Given the description of an element on the screen output the (x, y) to click on. 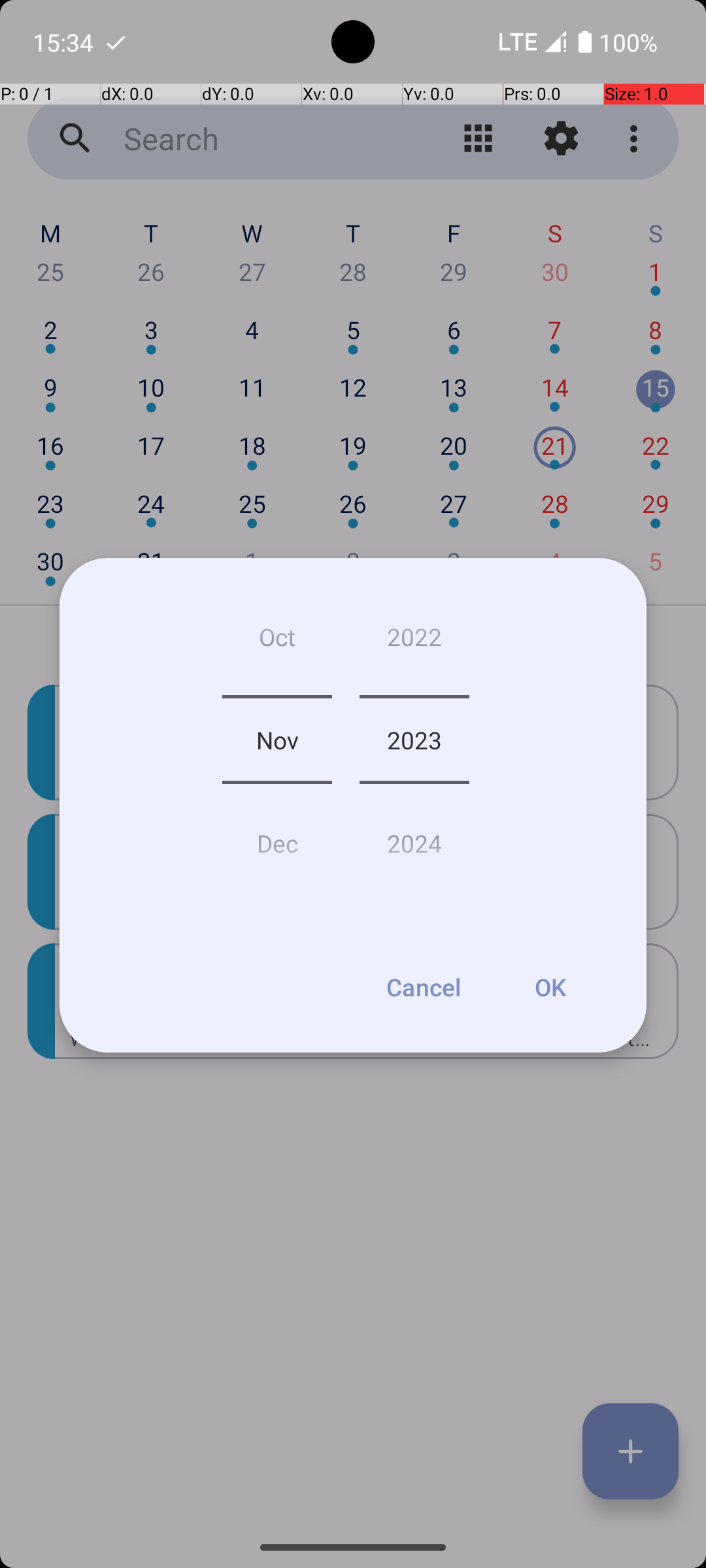
Dec Element type: android.widget.Button (277, 837)
